Given the description of an element on the screen output the (x, y) to click on. 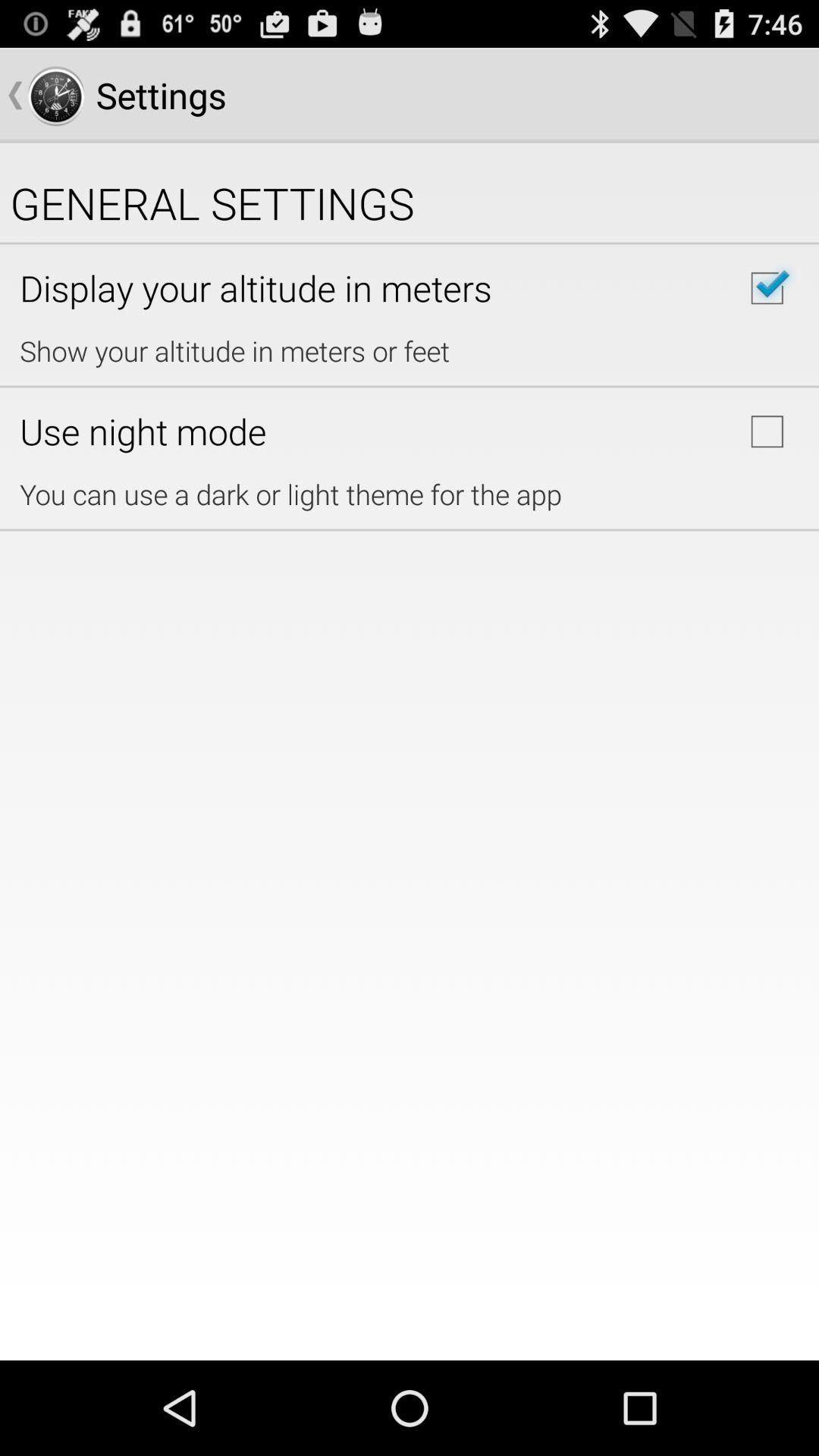
select option (767, 431)
